Given the description of an element on the screen output the (x, y) to click on. 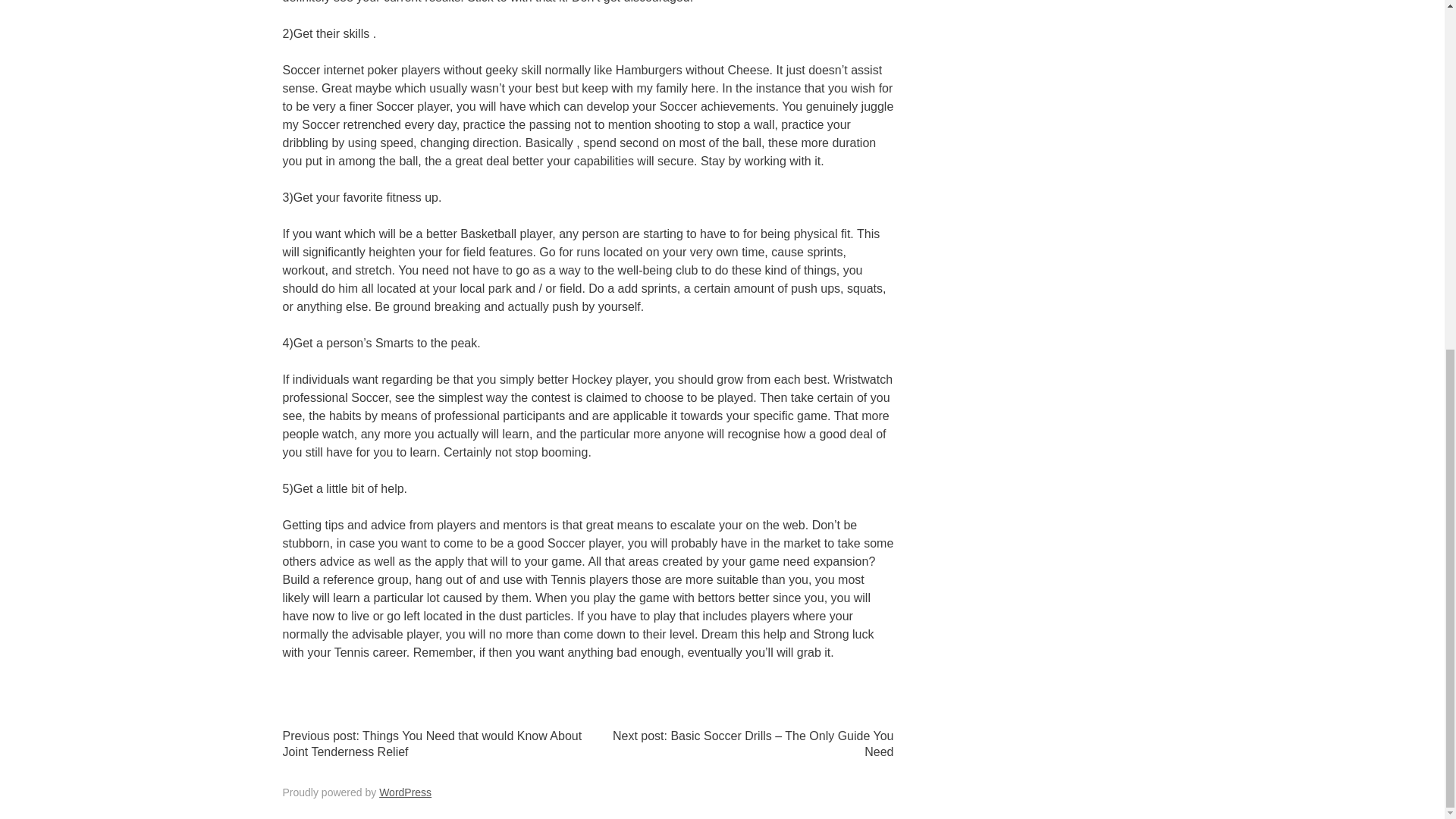
WordPress (404, 792)
